Given the description of an element on the screen output the (x, y) to click on. 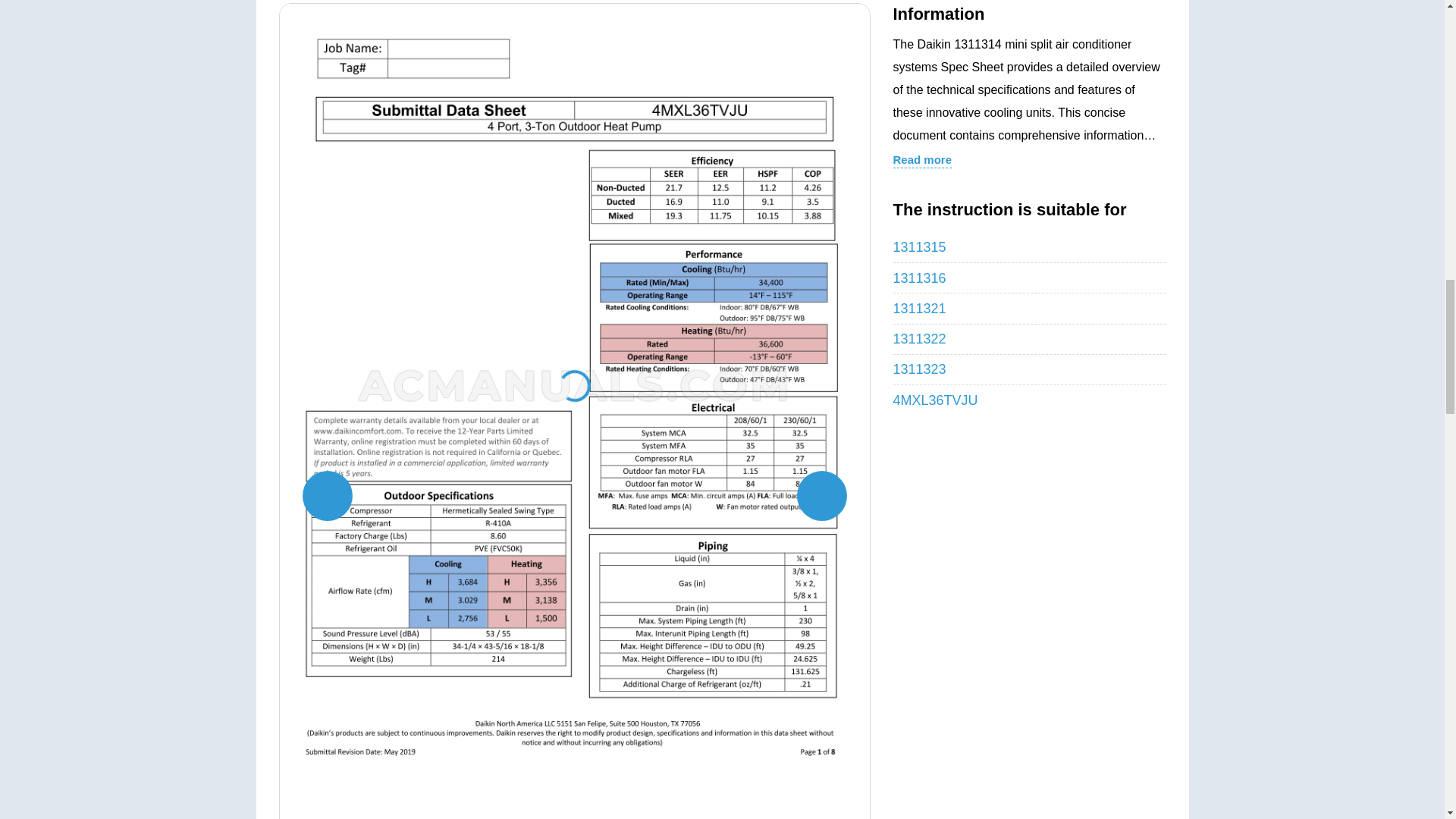
Read more (922, 157)
1311322 (1029, 339)
1311321 (1029, 308)
1311316 (1029, 277)
4MXL36TVJU (1029, 399)
1311323 (1029, 369)
1311315 (1029, 247)
